Given the description of an element on the screen output the (x, y) to click on. 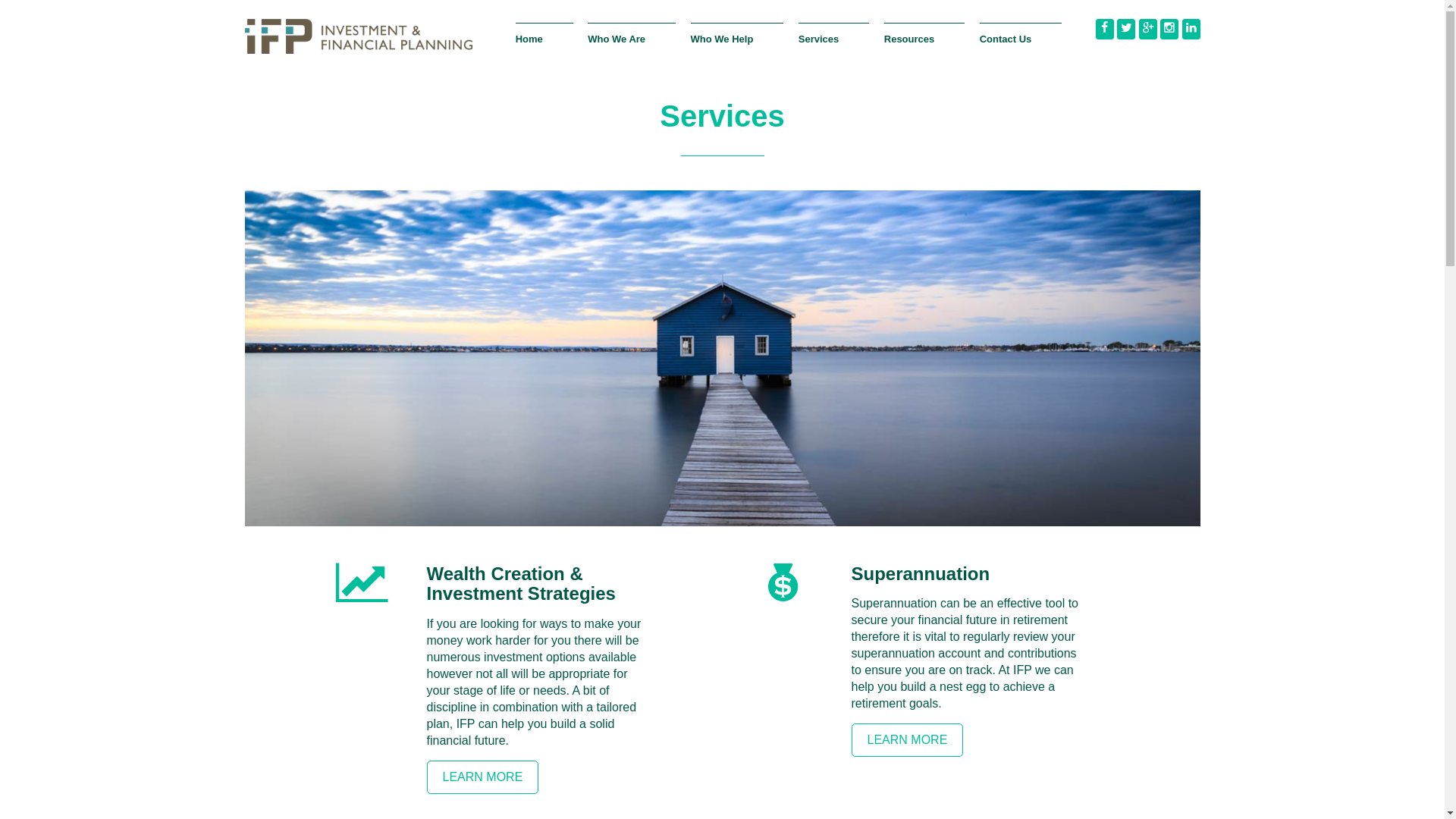
Resources Element type: text (924, 47)
Who We Help Element type: text (737, 47)
Contact Us Element type: text (1020, 47)
LEARN MORE Element type: text (482, 776)
LEARN MORE Element type: text (906, 739)
Who We Are Element type: text (631, 47)
Home Element type: text (544, 47)
Services Element type: text (833, 47)
